Given the description of an element on the screen output the (x, y) to click on. 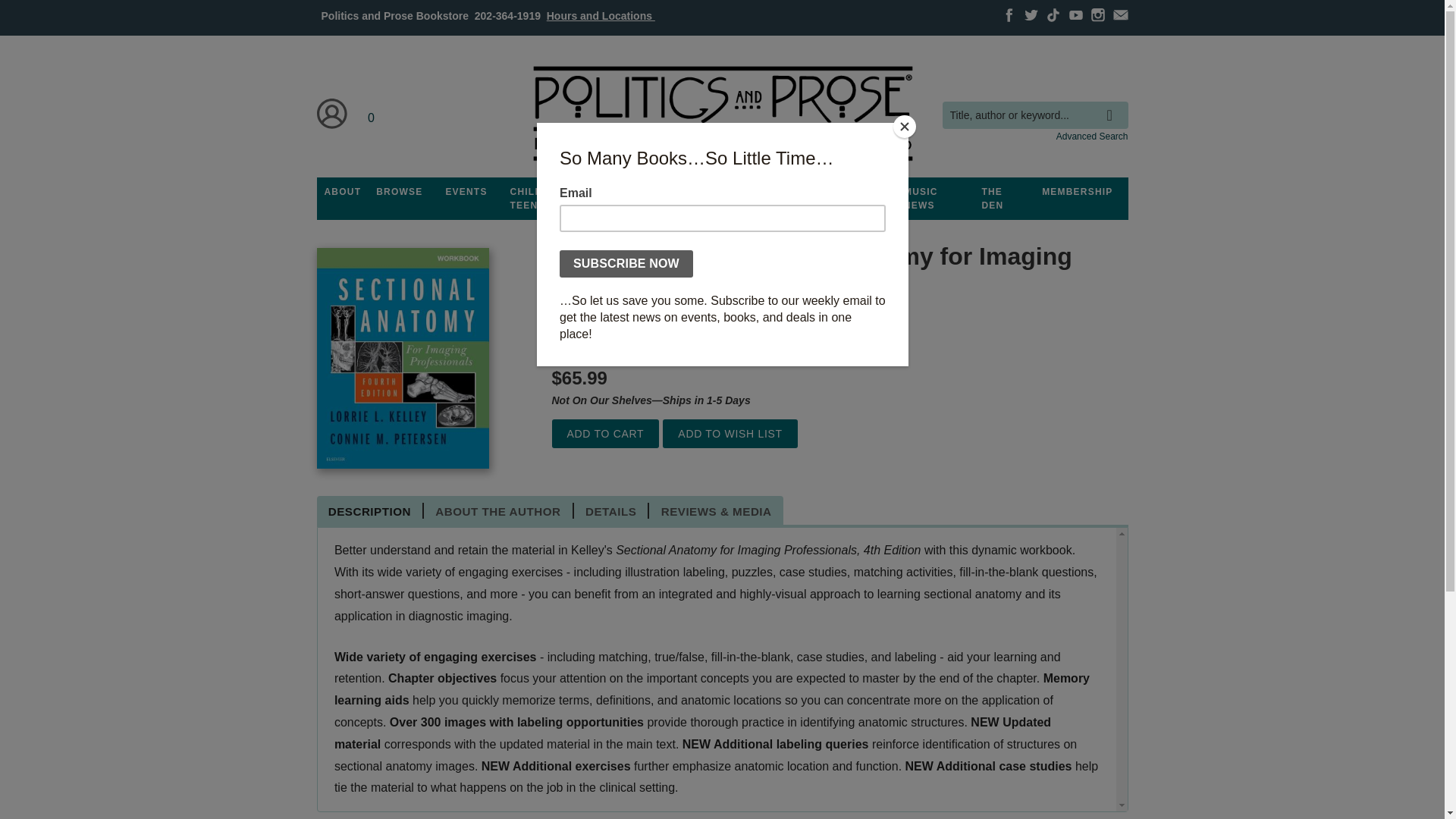
Browse our shelves (398, 191)
EVENTS (465, 191)
Advanced Search (1092, 136)
See information about our programs (633, 191)
Visit your cart (371, 114)
Title, author or keyword... (1034, 115)
PROGRAMS (633, 191)
Hours and Locations  (601, 15)
Add to Cart (605, 433)
BROWSE (398, 191)
Cart (371, 114)
search (1112, 103)
SERVICES (808, 191)
Children and Teens Department (548, 198)
